Given the description of an element on the screen output the (x, y) to click on. 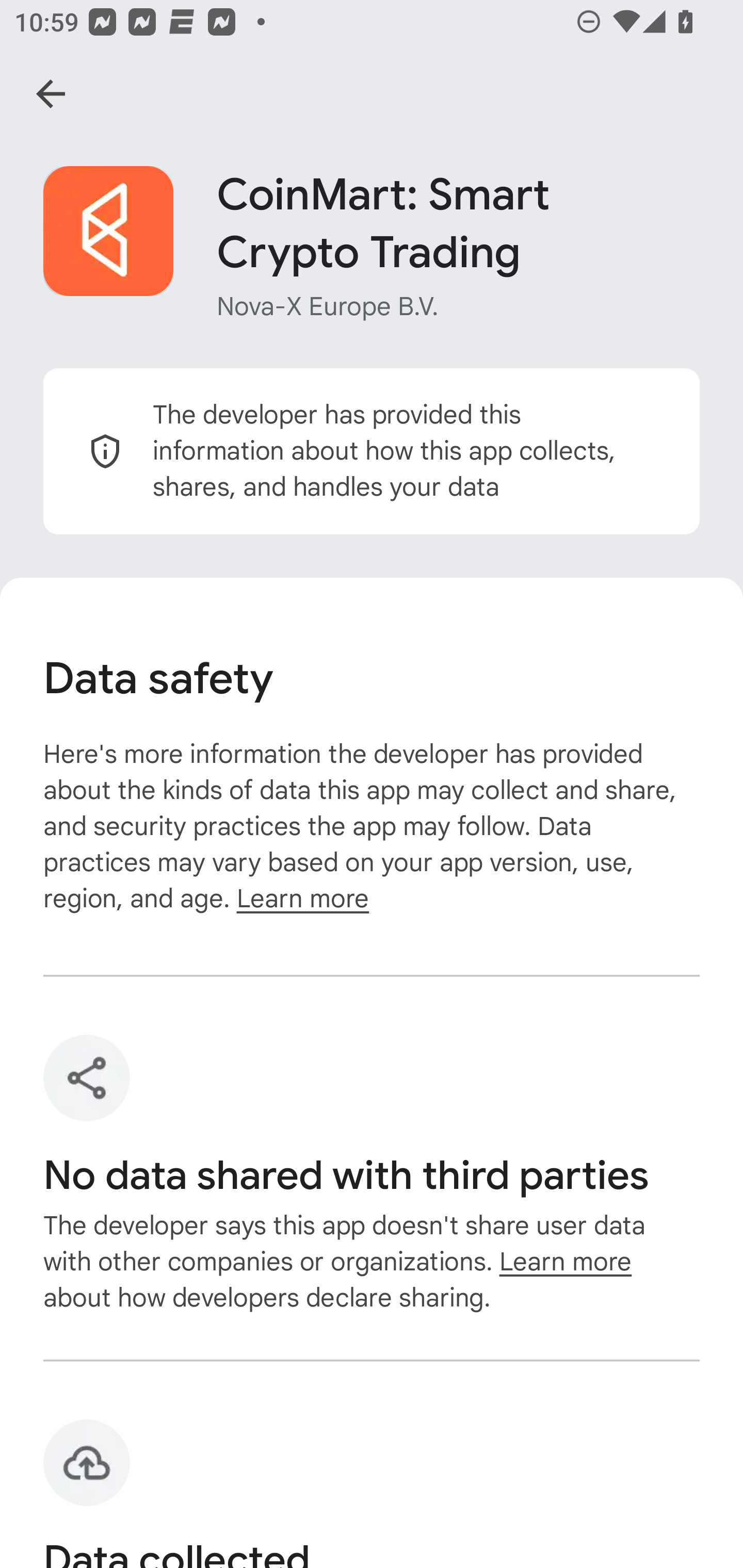
Navigate up (50, 93)
